Given the description of an element on the screen output the (x, y) to click on. 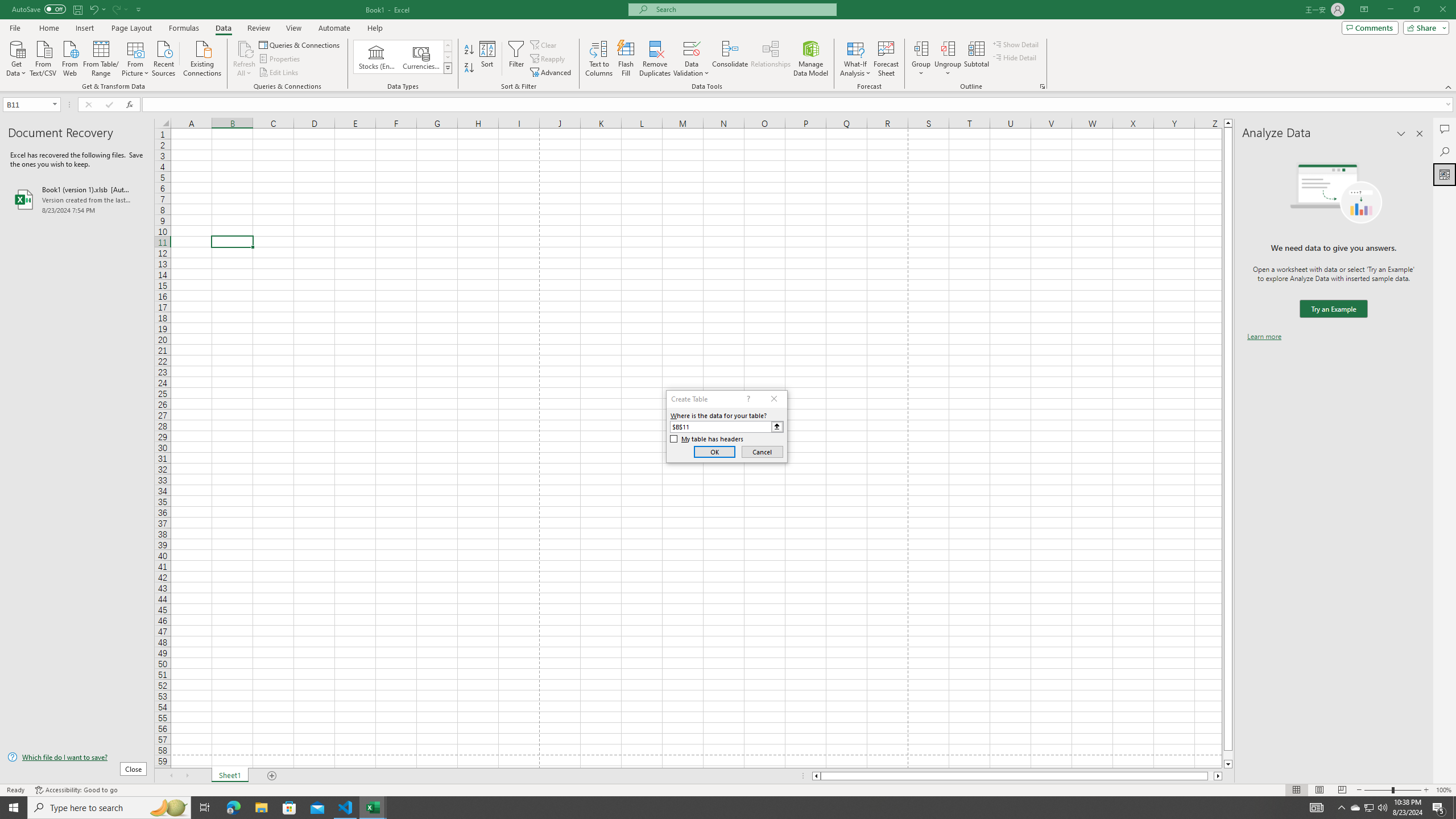
Collapse the Ribbon (1448, 86)
Group... (921, 48)
Analyze Data (1444, 173)
Ungroup... (947, 48)
From Picture (135, 57)
Manage Data Model (810, 58)
Show Detail (1016, 44)
Consolidate... (729, 58)
Accessibility Checker Accessibility: Good to go (76, 790)
